Given the description of an element on the screen output the (x, y) to click on. 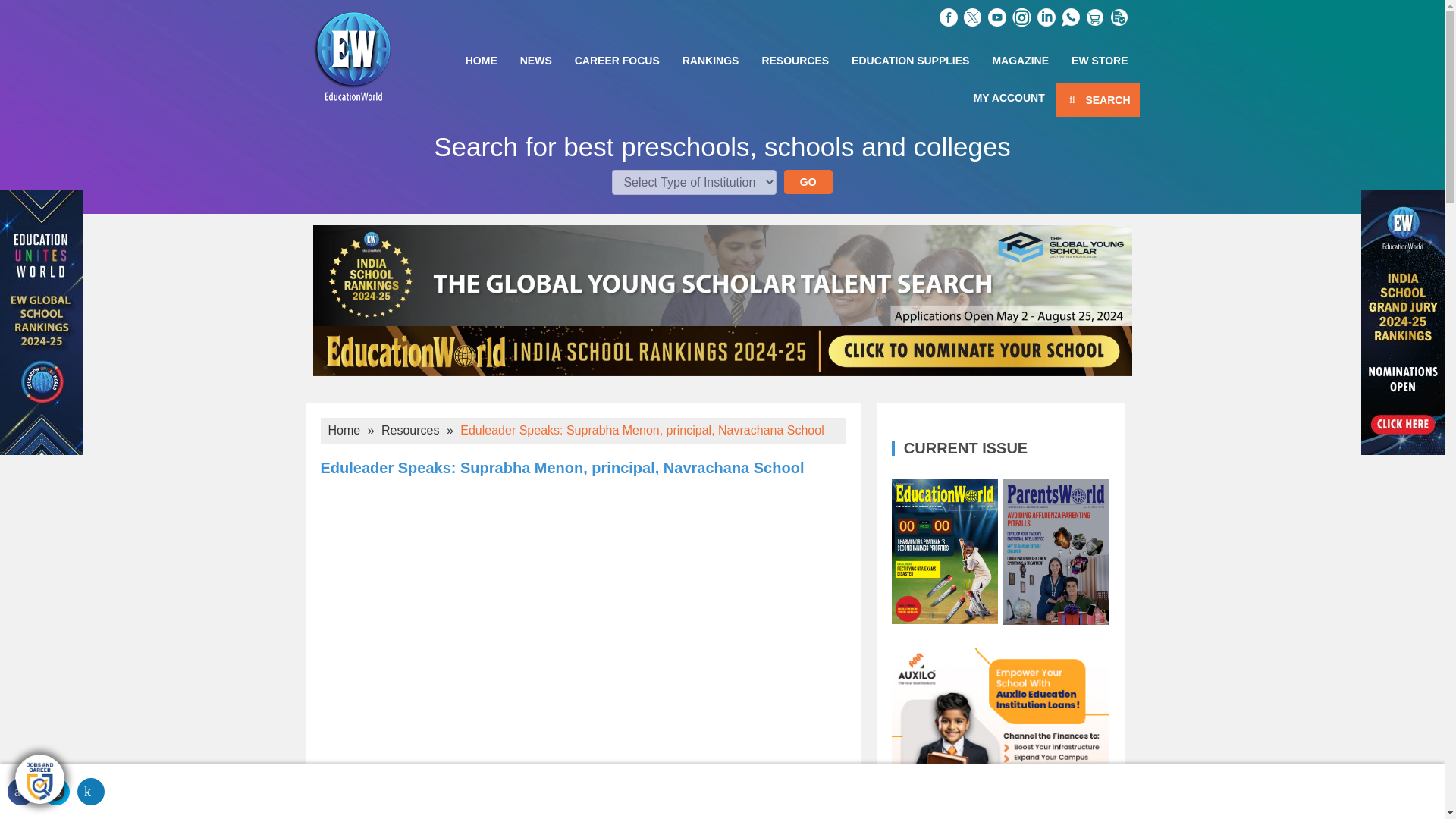
RANKINGS (711, 59)
MAGAZINE (1019, 59)
GO (808, 181)
HOME (481, 59)
EDUCATION SUPPLIES (909, 59)
NEWS (535, 59)
CAREER FOCUS (617, 59)
RESOURCES (794, 59)
